Given the description of an element on the screen output the (x, y) to click on. 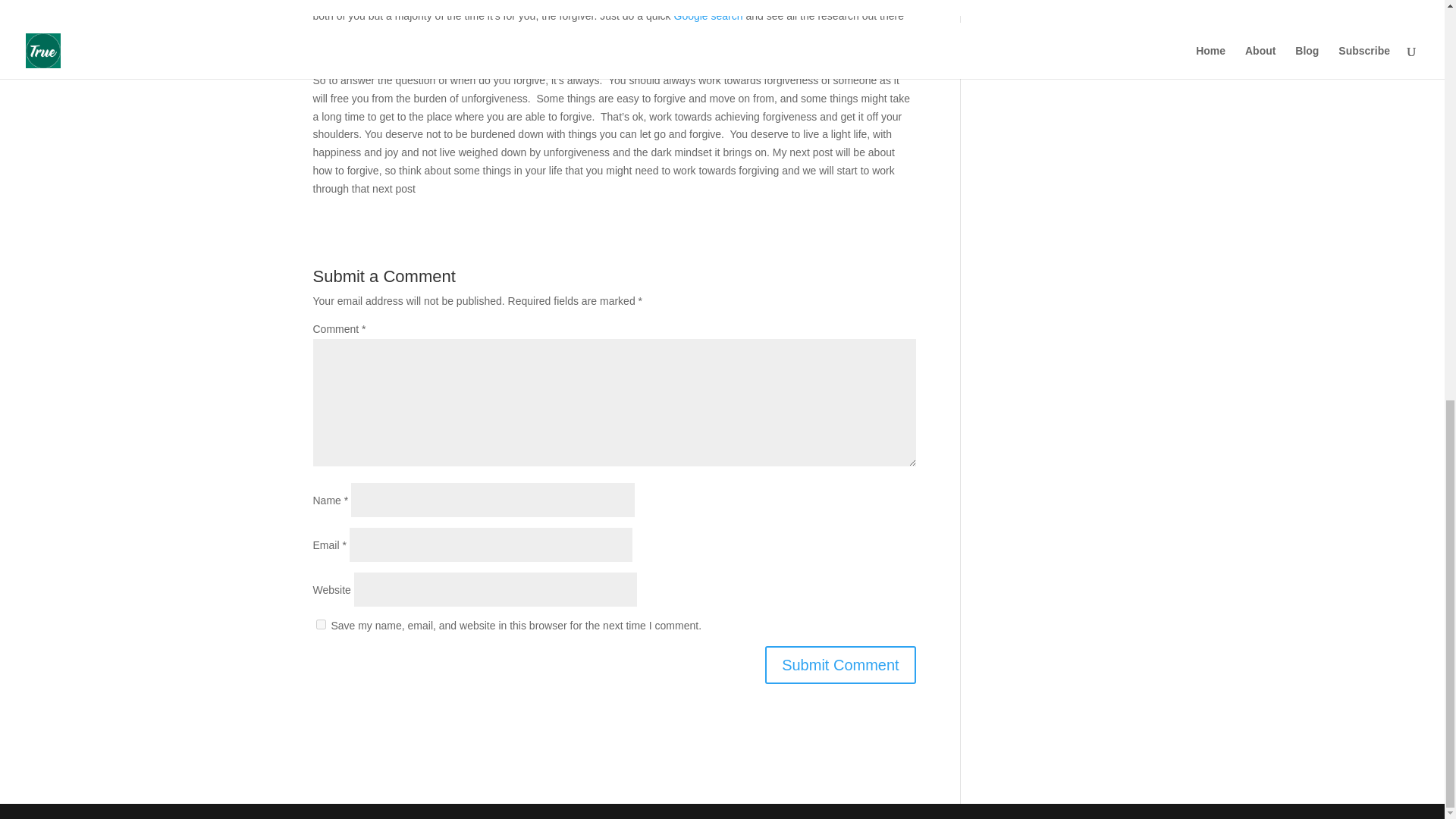
Submit Comment (840, 664)
Google search (707, 15)
Submit Comment (840, 664)
yes (319, 624)
